Given the description of an element on the screen output the (x, y) to click on. 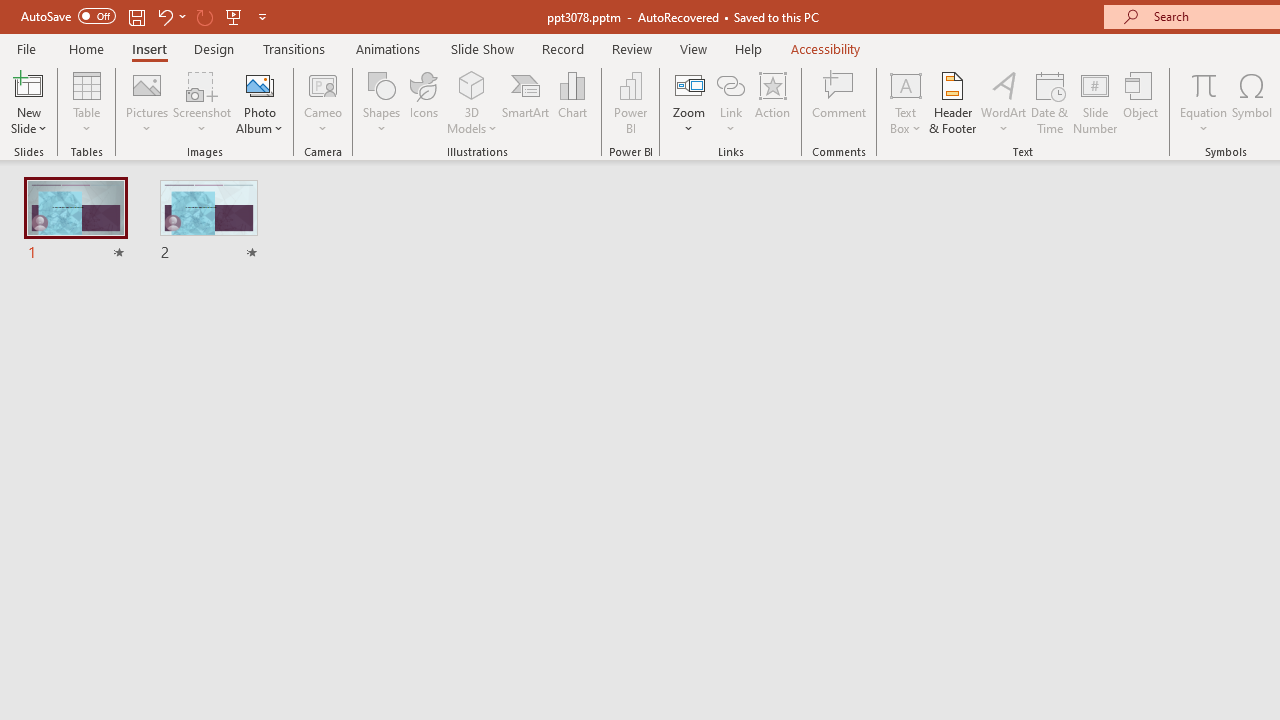
Class: actions-container (529, 681)
Explorer actions (391, 322)
SJTUvpn (774, 138)
Wikipedia, the free encyclopedia (437, 138)
Class: menubar compact overflow-menu-only (135, 322)
Application Menu (135, 322)
Edge (905, 82)
Microsoft security help and learning (42, 613)
